Given the description of an element on the screen output the (x, y) to click on. 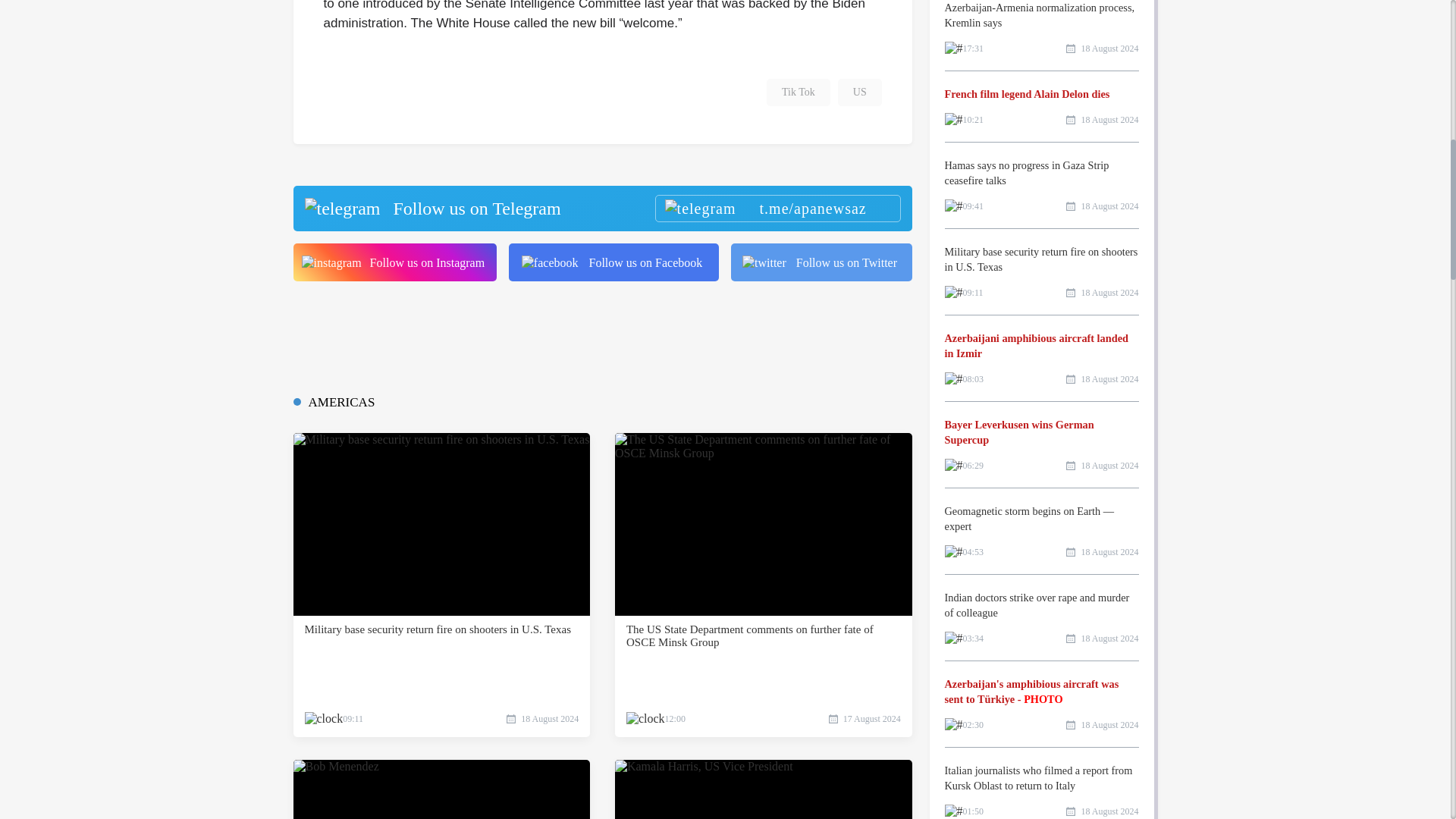
Follow us on Twitter (821, 262)
Follow us on Instagram (394, 262)
Follow us on Facebook (613, 262)
Follow us on Telegram (601, 207)
